Given the description of an element on the screen output the (x, y) to click on. 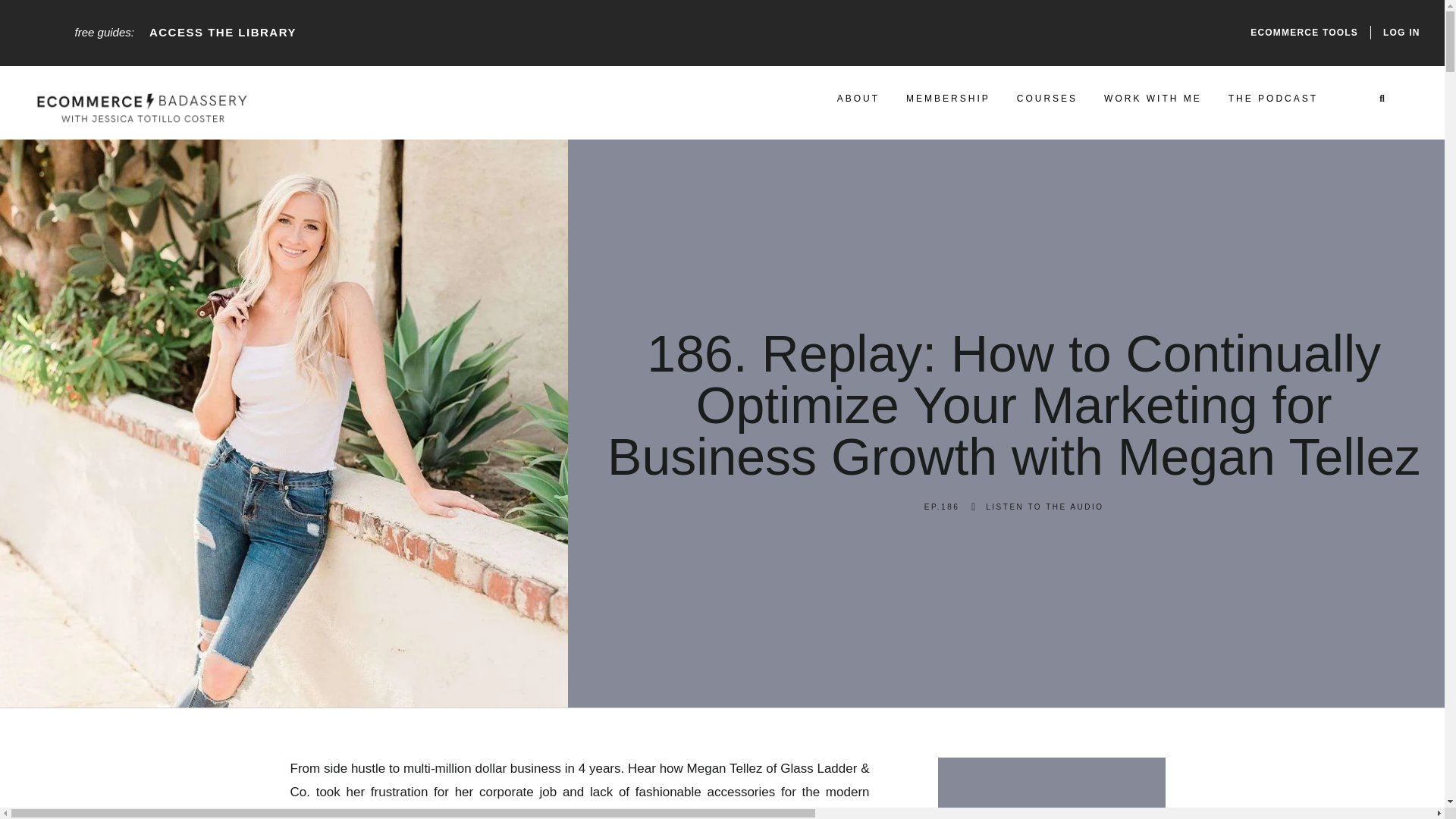
ABOUT (858, 98)
LOG IN (1401, 32)
ACCESS THE LIBRARY (223, 31)
THE PODCAST (1272, 98)
COURSES (1046, 98)
WORK WITH ME (1152, 98)
MEMBERSHIP (947, 98)
ECOMMERCE TOOLS (1304, 32)
